Given the description of an element on the screen output the (x, y) to click on. 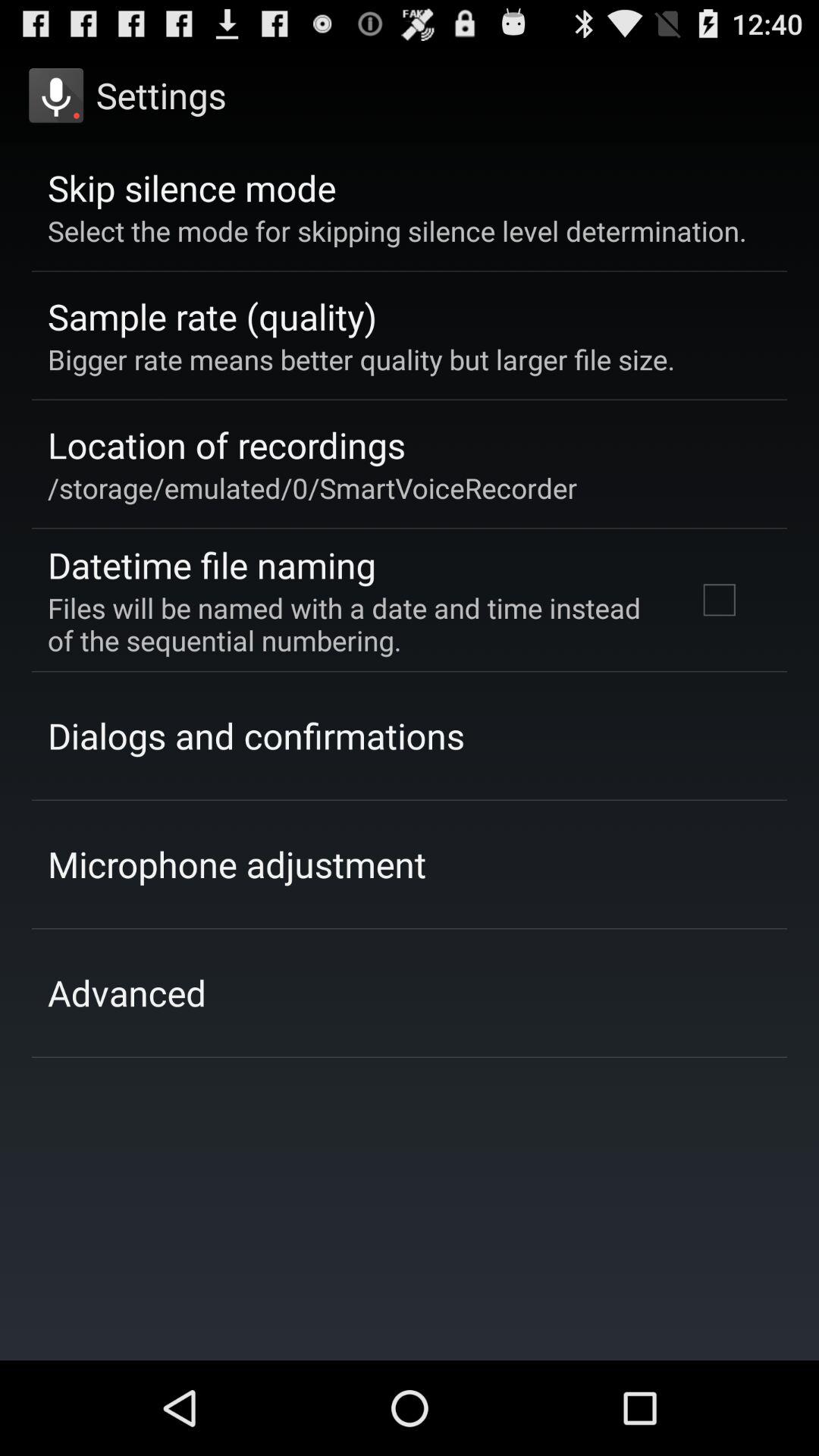
turn on the item below the storage emulated 0 app (211, 564)
